Given the description of an element on the screen output the (x, y) to click on. 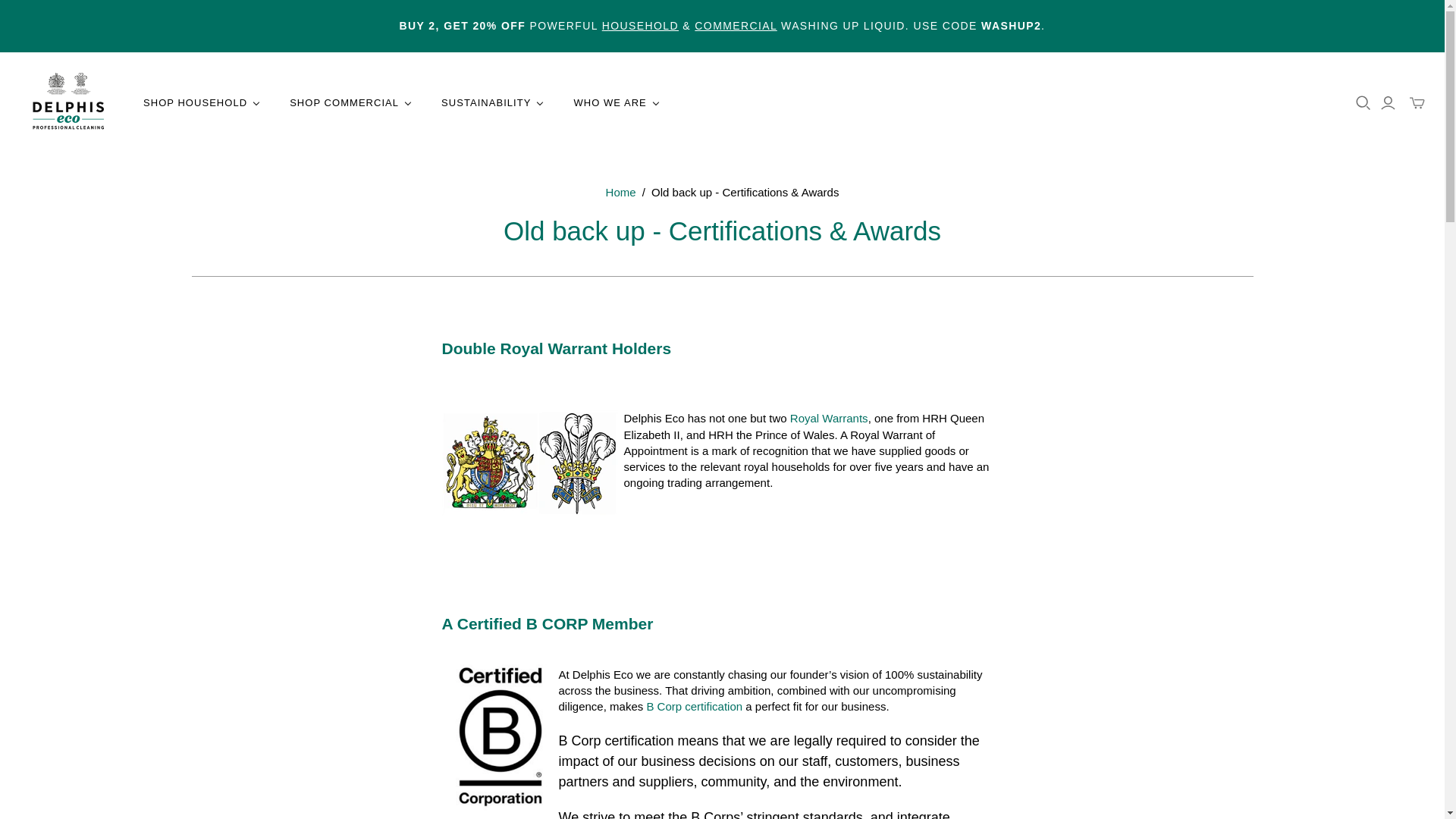
COMMERCIAL (735, 25)
HOUSEHOLD (640, 25)
SHOP COMMERCIAL (350, 103)
Royal Warrant (828, 418)
SHOP HOUSEHOLD (202, 103)
